Given the description of an element on the screen output the (x, y) to click on. 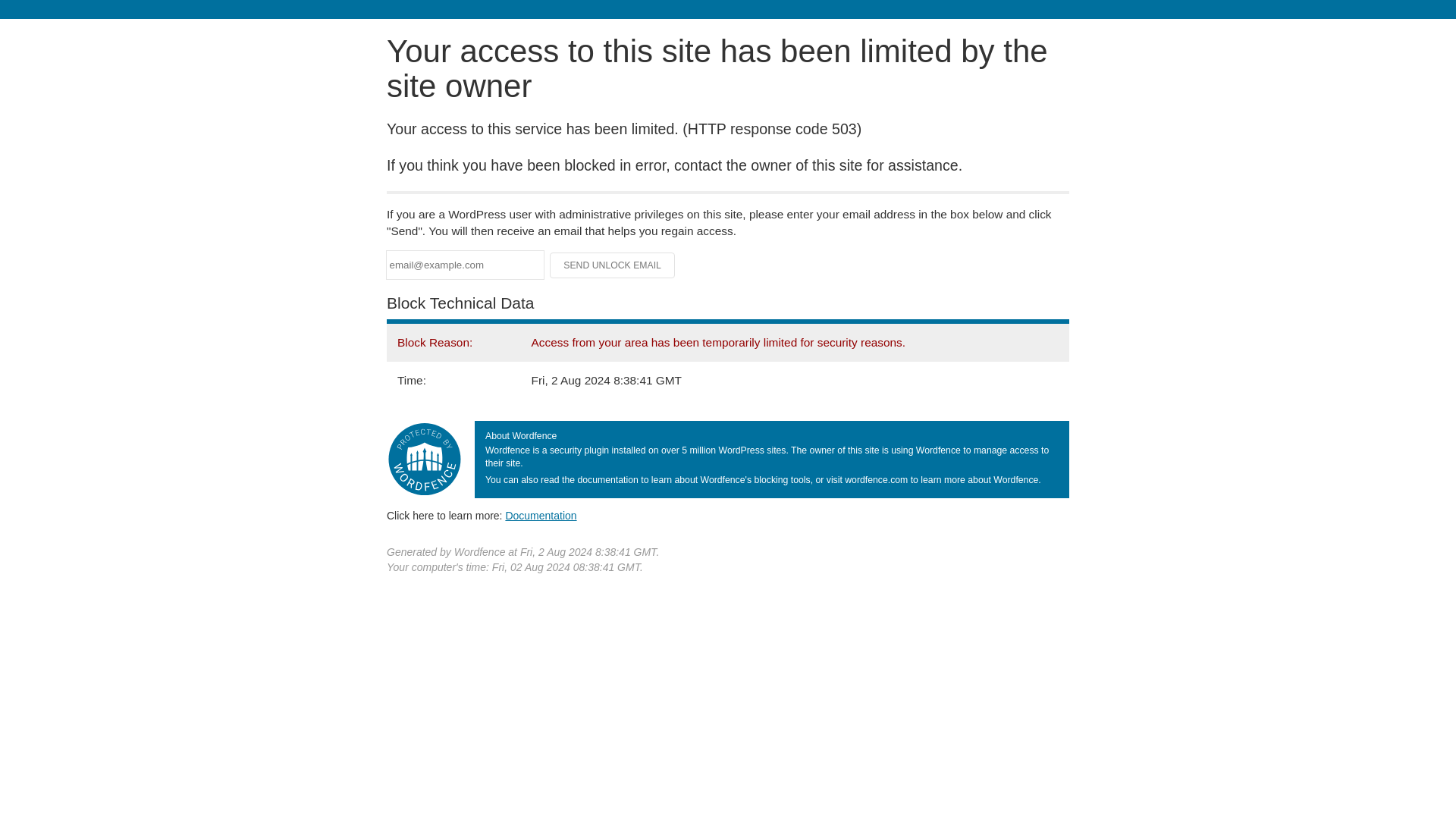
Send Unlock Email (612, 265)
Send Unlock Email (612, 265)
Documentation (540, 515)
